Given the description of an element on the screen output the (x, y) to click on. 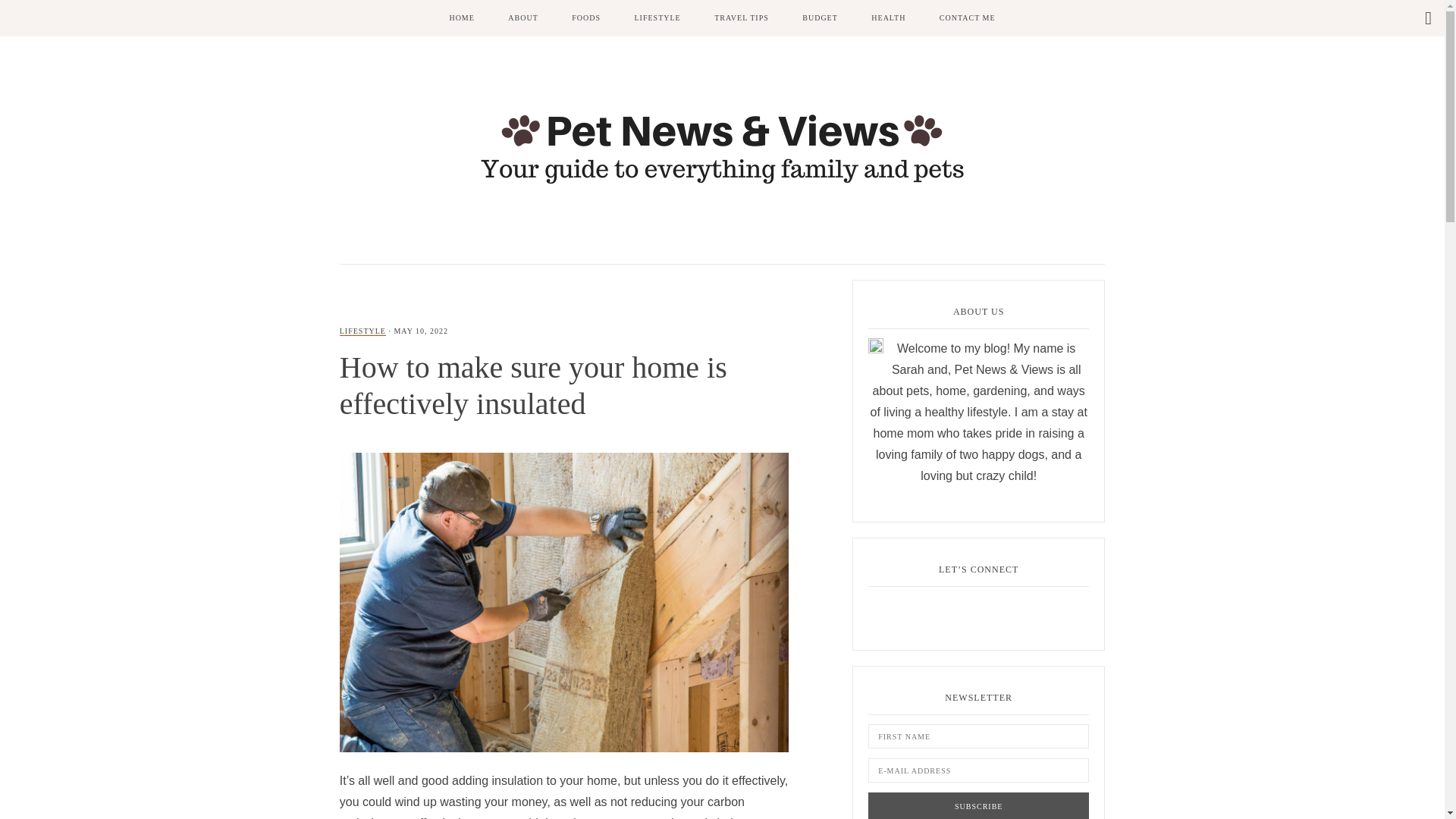
TRAVEL TIPS (741, 18)
ABOUT (523, 18)
LIFESTYLE (362, 330)
BUDGET (820, 18)
Pet News and Views (722, 146)
SUBSCRIBE (978, 805)
HOME (461, 18)
Search (13, 10)
HEALTH (888, 18)
